Given the description of an element on the screen output the (x, y) to click on. 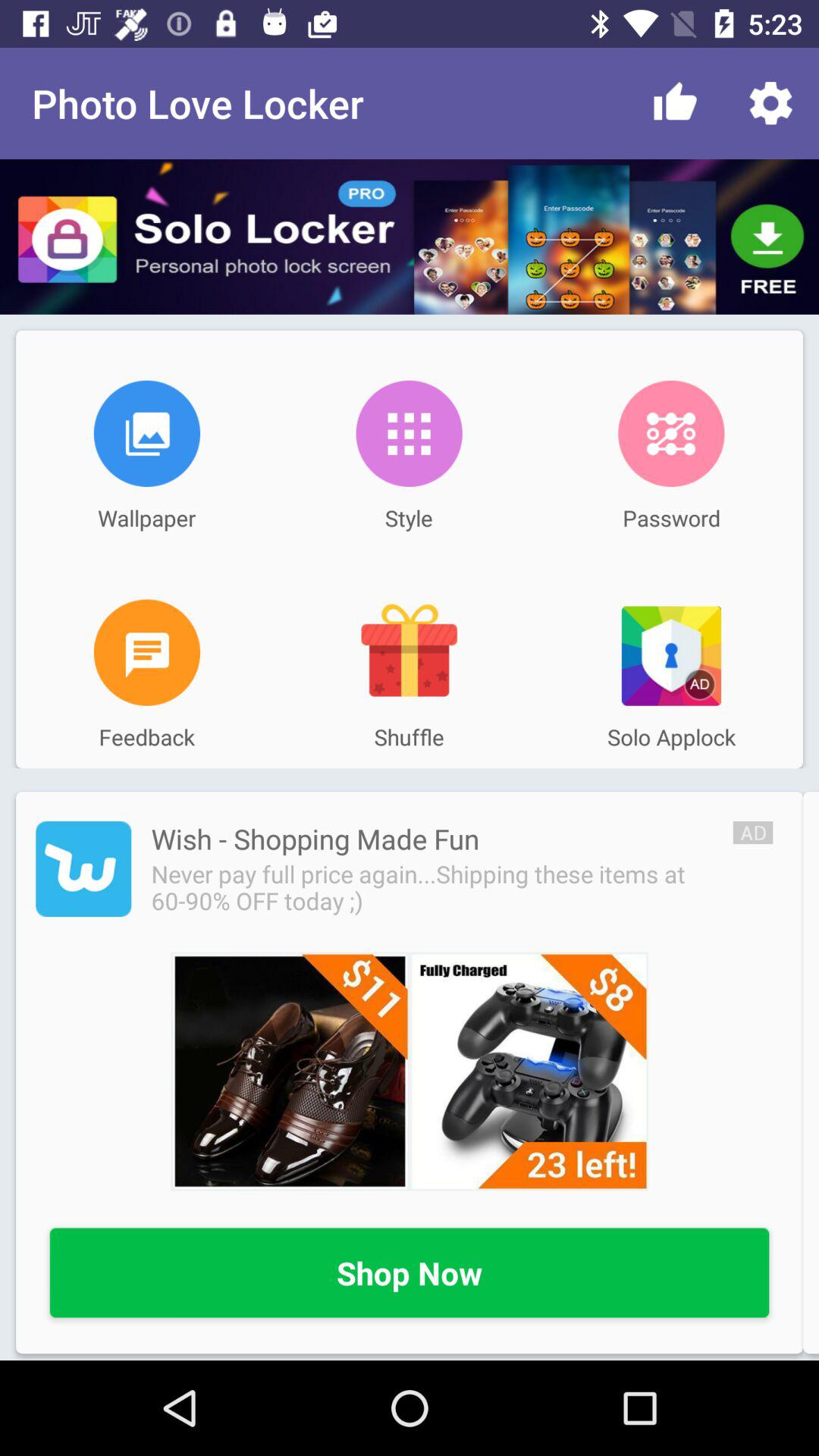
launch icon next to style icon (671, 433)
